Given the description of an element on the screen output the (x, y) to click on. 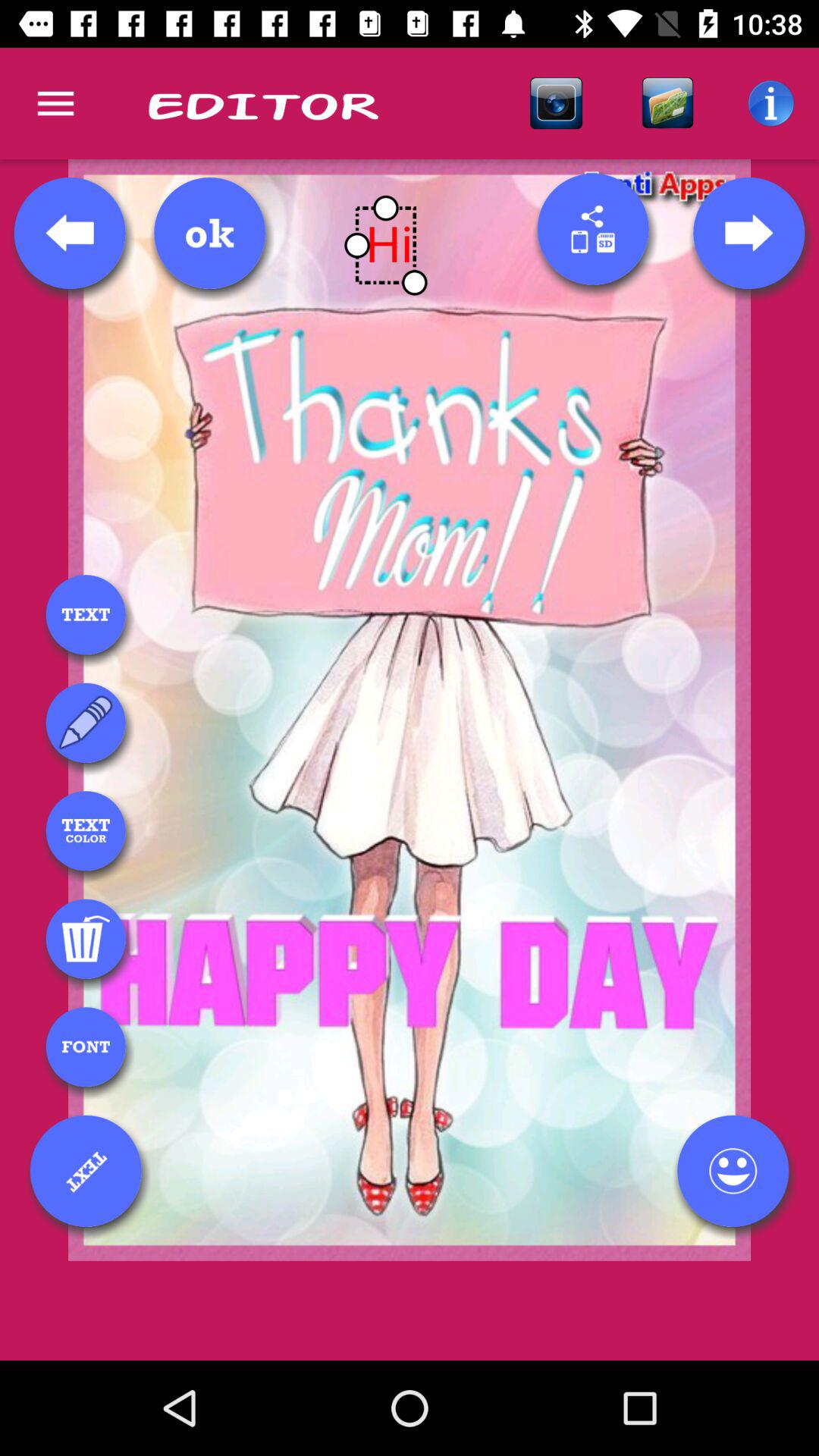
go to font menu (85, 1047)
